Given the description of an element on the screen output the (x, y) to click on. 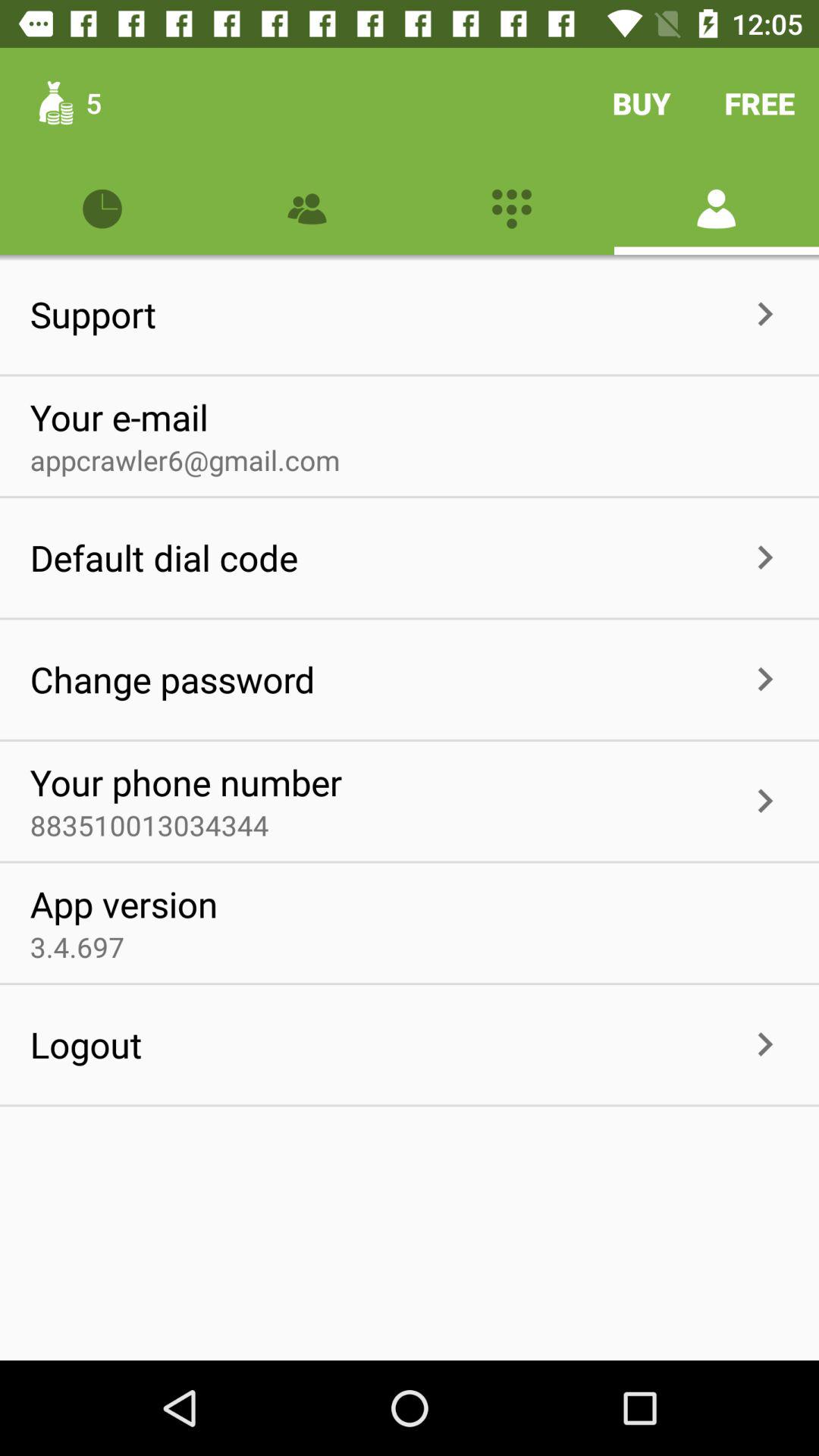
press the item below the your e-mail icon (185, 459)
